Given the description of an element on the screen output the (x, y) to click on. 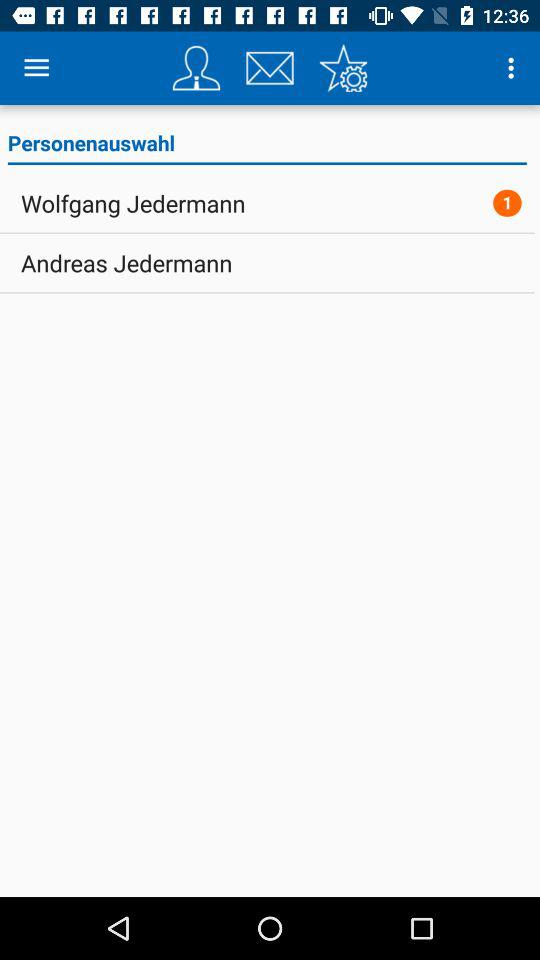
press icon below the personenauswahl icon (133, 203)
